Given the description of an element on the screen output the (x, y) to click on. 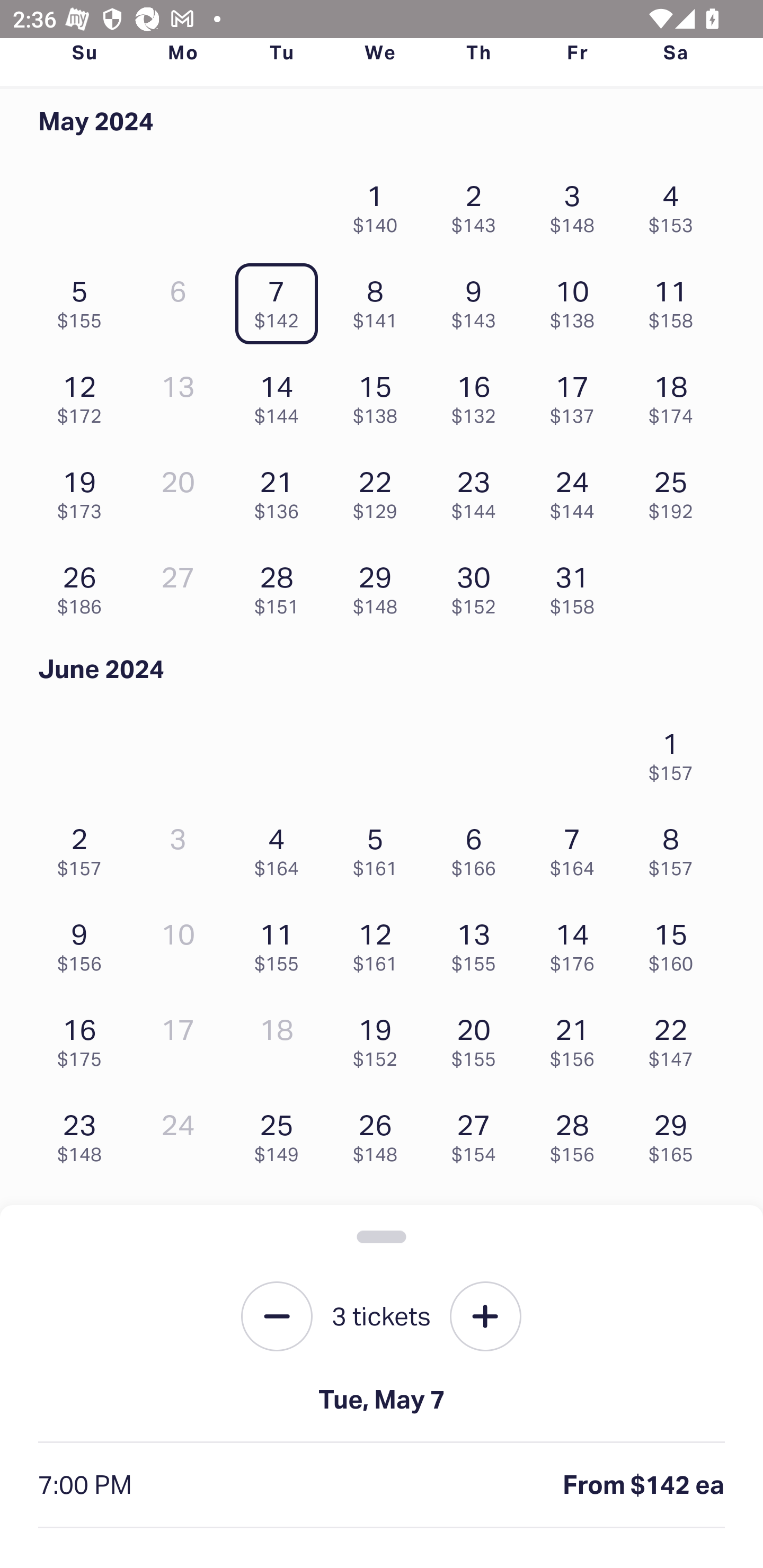
1 $140 (379, 204)
2 $143 (478, 204)
3 $148 (577, 204)
4 $153 (675, 204)
5 $155 (84, 299)
7 $142 (281, 299)
8 $141 (379, 299)
9 $143 (478, 299)
10 $138 (577, 299)
11 $158 (675, 299)
12 $172 (84, 395)
14 $144 (281, 395)
15 $138 (379, 395)
16 $132 (478, 395)
17 $137 (577, 395)
18 $174 (675, 395)
19 $173 (84, 489)
21 $136 (281, 489)
22 $129 (379, 489)
23 $144 (478, 489)
24 $144 (577, 489)
25 $192 (675, 489)
26 $186 (84, 585)
28 $151 (281, 585)
29 $148 (379, 585)
30 $152 (478, 585)
31 $158 (577, 585)
1 $157 (675, 751)
2 $157 (84, 847)
4 $164 (281, 847)
5 $161 (379, 847)
6 $166 (478, 847)
7 $164 (577, 847)
8 $157 (675, 847)
9 $156 (84, 942)
11 $155 (281, 942)
12 $161 (379, 942)
13 $155 (478, 942)
14 $176 (577, 942)
15 $160 (675, 942)
16 $175 (84, 1038)
19 $152 (379, 1038)
20 $155 (478, 1038)
21 $156 (577, 1038)
22 $147 (675, 1038)
23 $148 (84, 1133)
25 $149 (281, 1133)
26 $148 (379, 1133)
27 $154 (478, 1133)
28 $156 (577, 1133)
29 $165 (675, 1133)
7:00 PM From $142 ea (381, 1485)
